Given the description of an element on the screen output the (x, y) to click on. 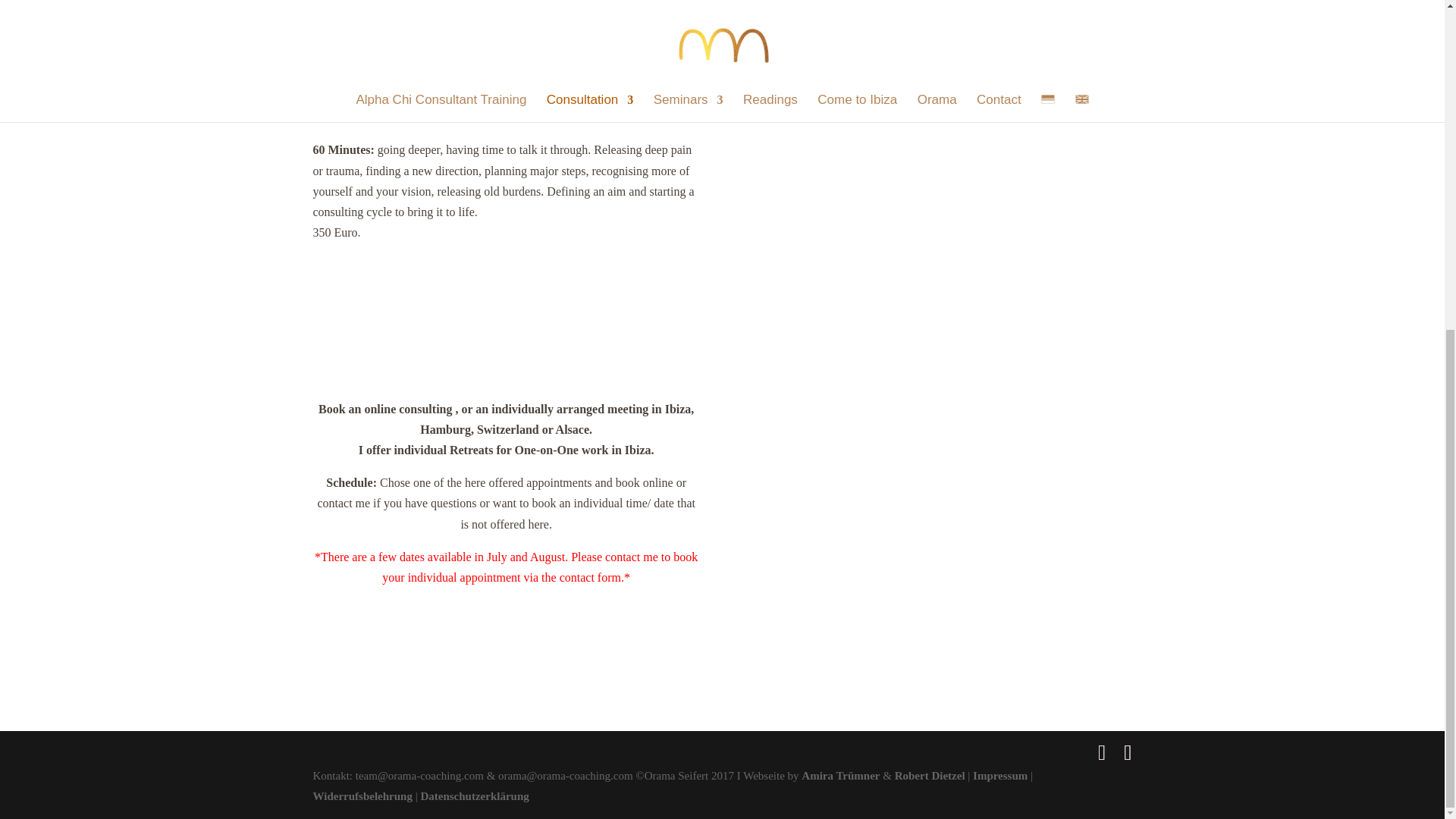
Impressum (999, 775)
Widerrufsbelehrung (362, 796)
Dietzel Online Business Academy (930, 775)
Impressum (999, 775)
Robert Dietzel (930, 775)
Widerrufsbelehrung (362, 796)
